Given the description of an element on the screen output the (x, y) to click on. 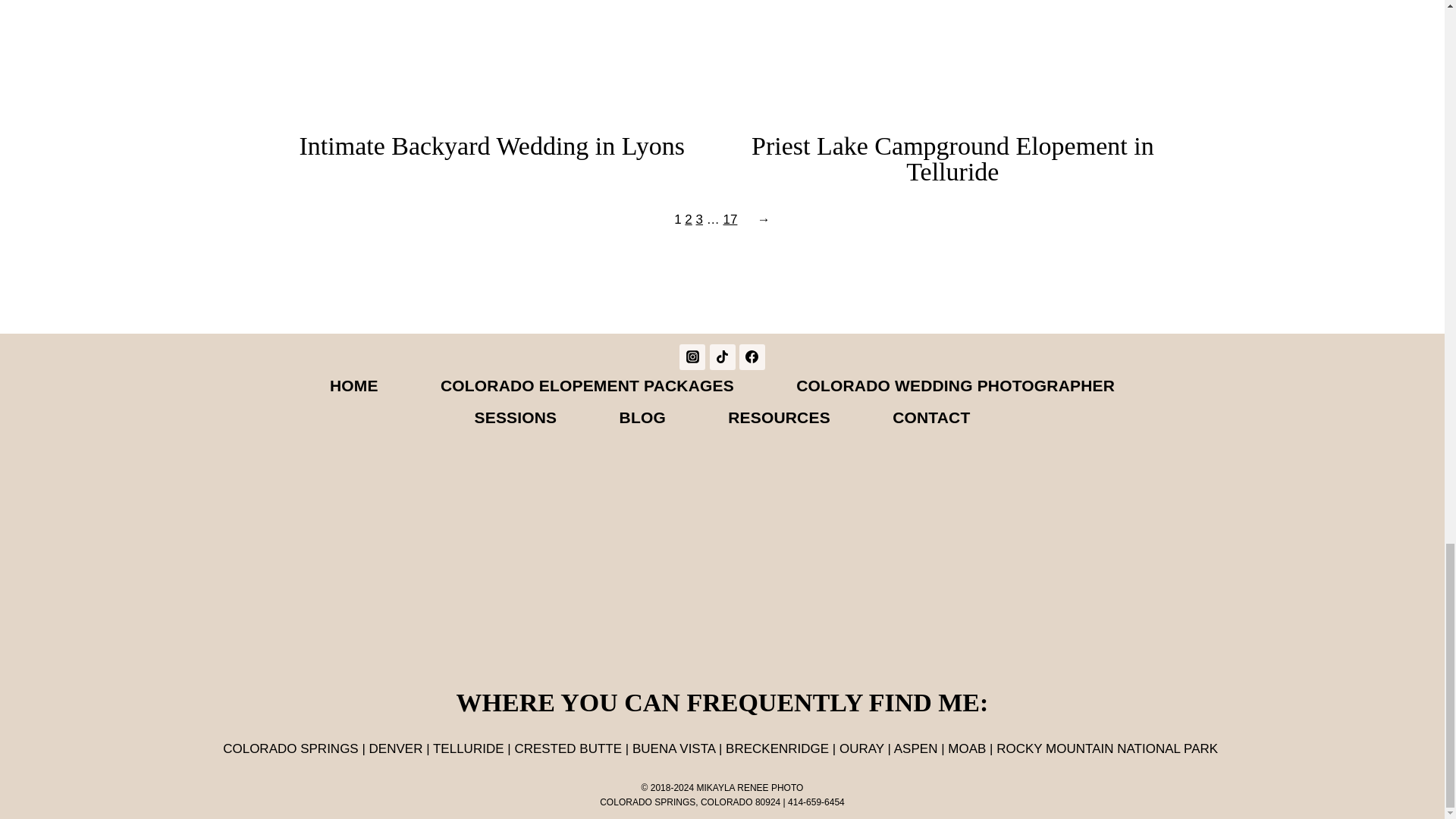
TELLURIDE (467, 748)
3 (699, 219)
HOME (353, 386)
17 (729, 219)
CONTACT (931, 418)
Priest Lake Campground Elopement in Telluride (952, 159)
COLORADO ELOPEMENT PACKAGES (587, 386)
Intimate Backyard Wedding in Lyons (491, 145)
SESSIONS (515, 418)
BLOG (642, 418)
COLORADO WEDDING PHOTOGRAPHER (955, 386)
2 (687, 219)
RESOURCES (779, 418)
